Given the description of an element on the screen output the (x, y) to click on. 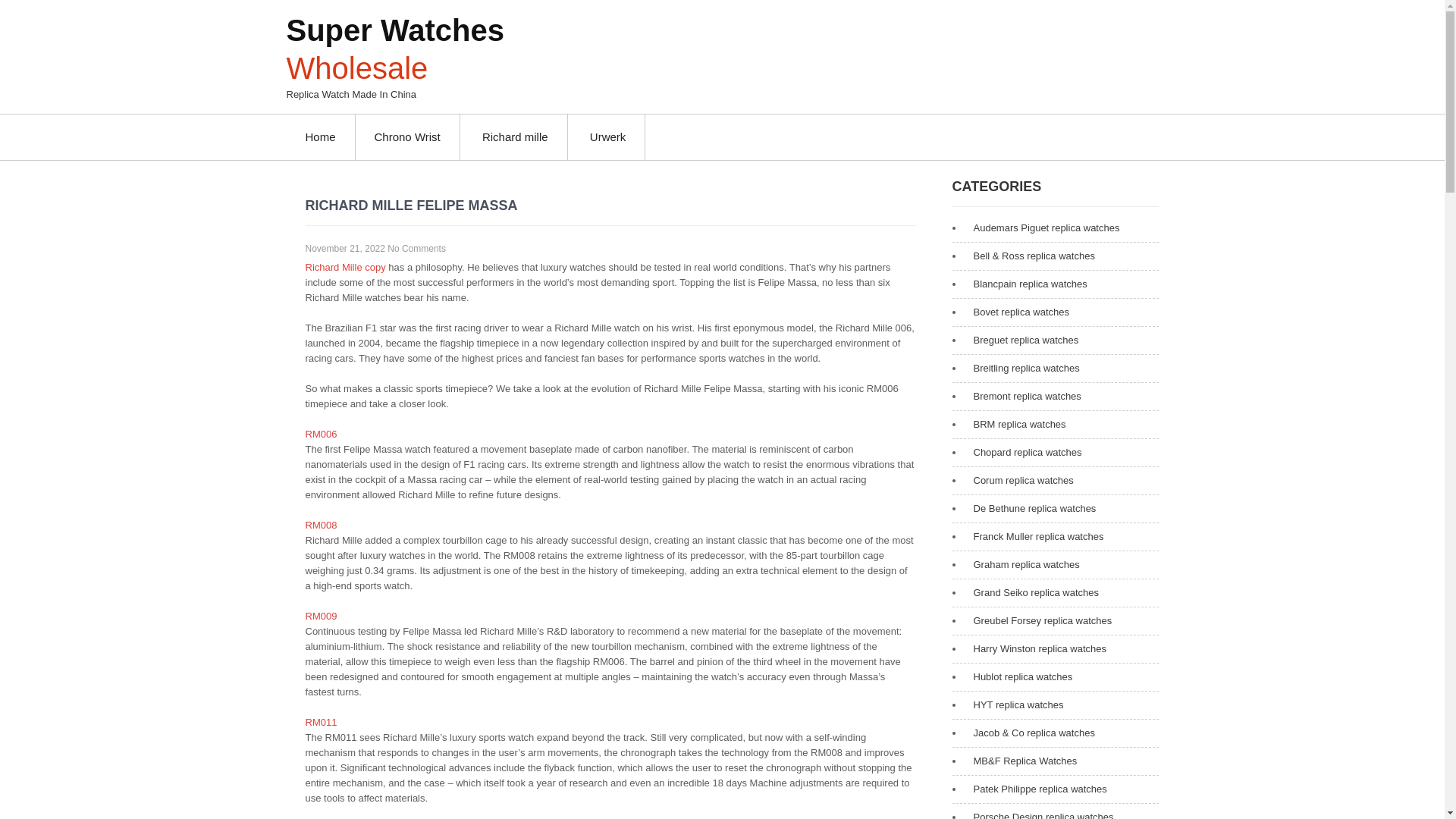
Urwerk (608, 136)
BRM replica watches (1015, 424)
Chopard replica watches (1023, 452)
Graham replica watches (1023, 564)
RM011 (320, 722)
Bremont replica watches (1023, 396)
Richard Mille copy (344, 266)
No Comments (416, 248)
Audemars Piguet replica watches (1042, 227)
